Given the description of an element on the screen output the (x, y) to click on. 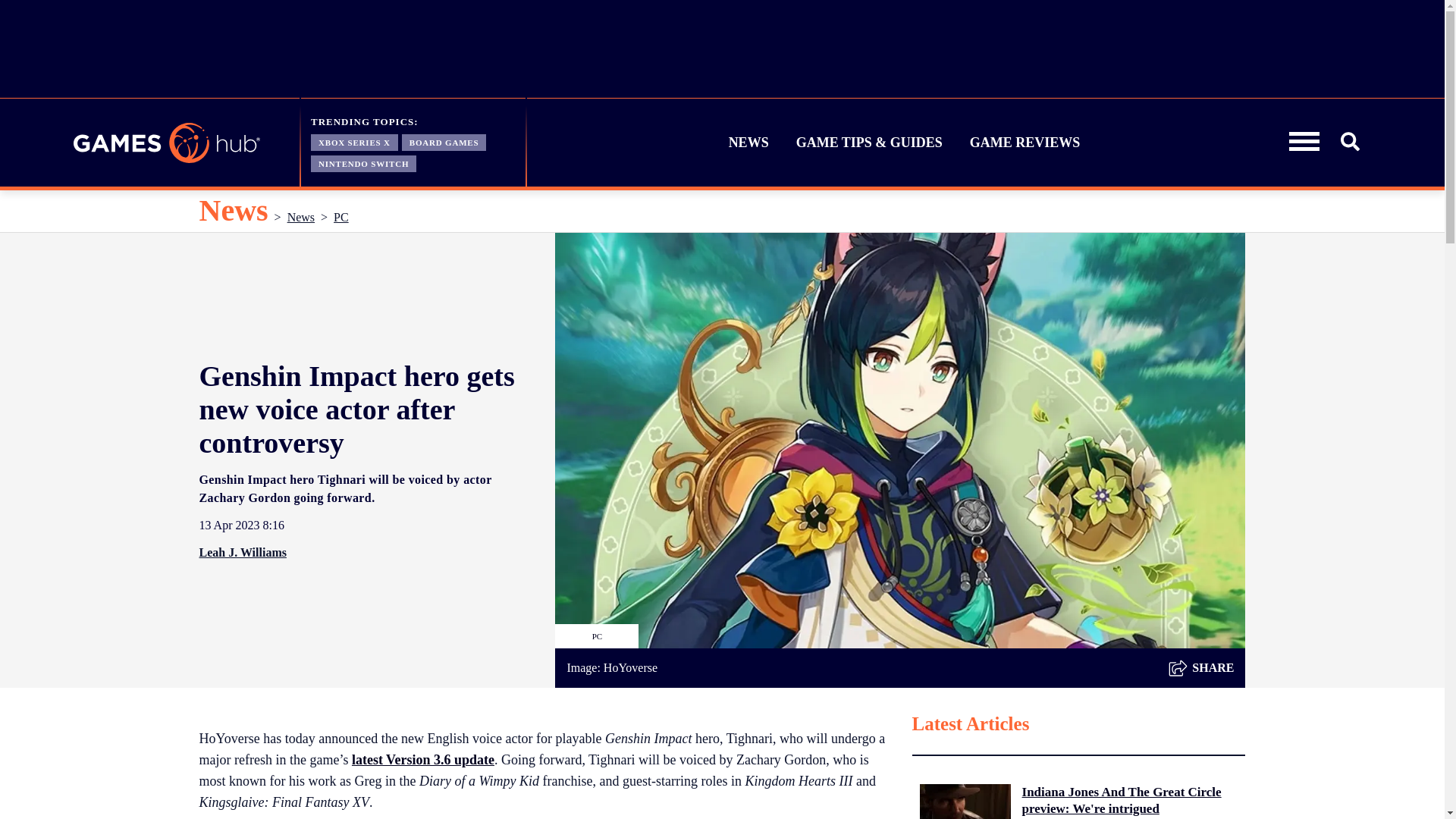
XBOX SERIES X (354, 141)
NINTENDO SWITCH (363, 162)
BOARD GAMES (443, 141)
NEWS (748, 142)
GAME REVIEWS (1025, 142)
